Given the description of an element on the screen output the (x, y) to click on. 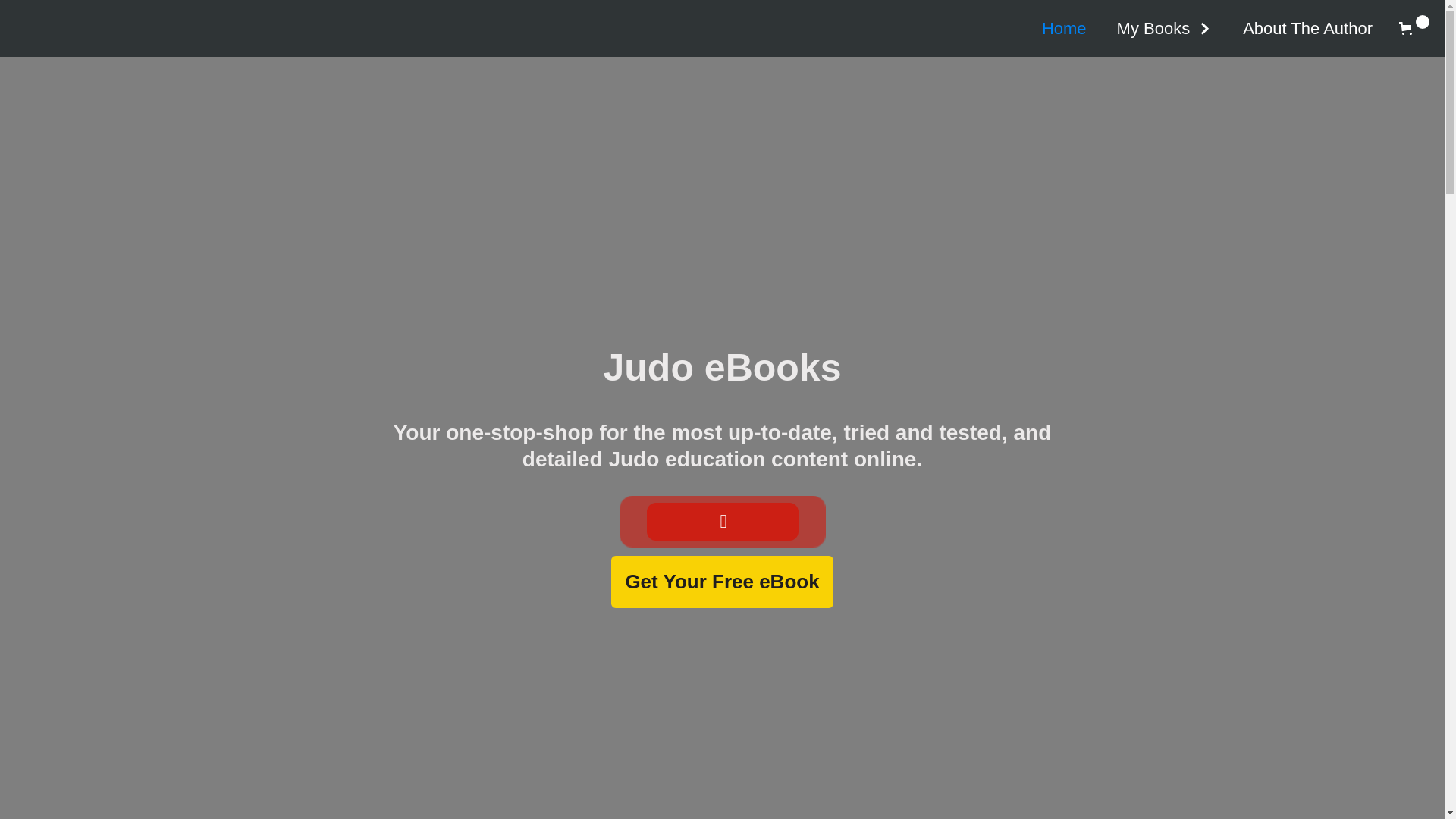
About The Author Element type: text (1307, 28)
Home Element type: text (1063, 28)
Get Your Free eBook Element type: text (721, 581)
